Given the description of an element on the screen output the (x, y) to click on. 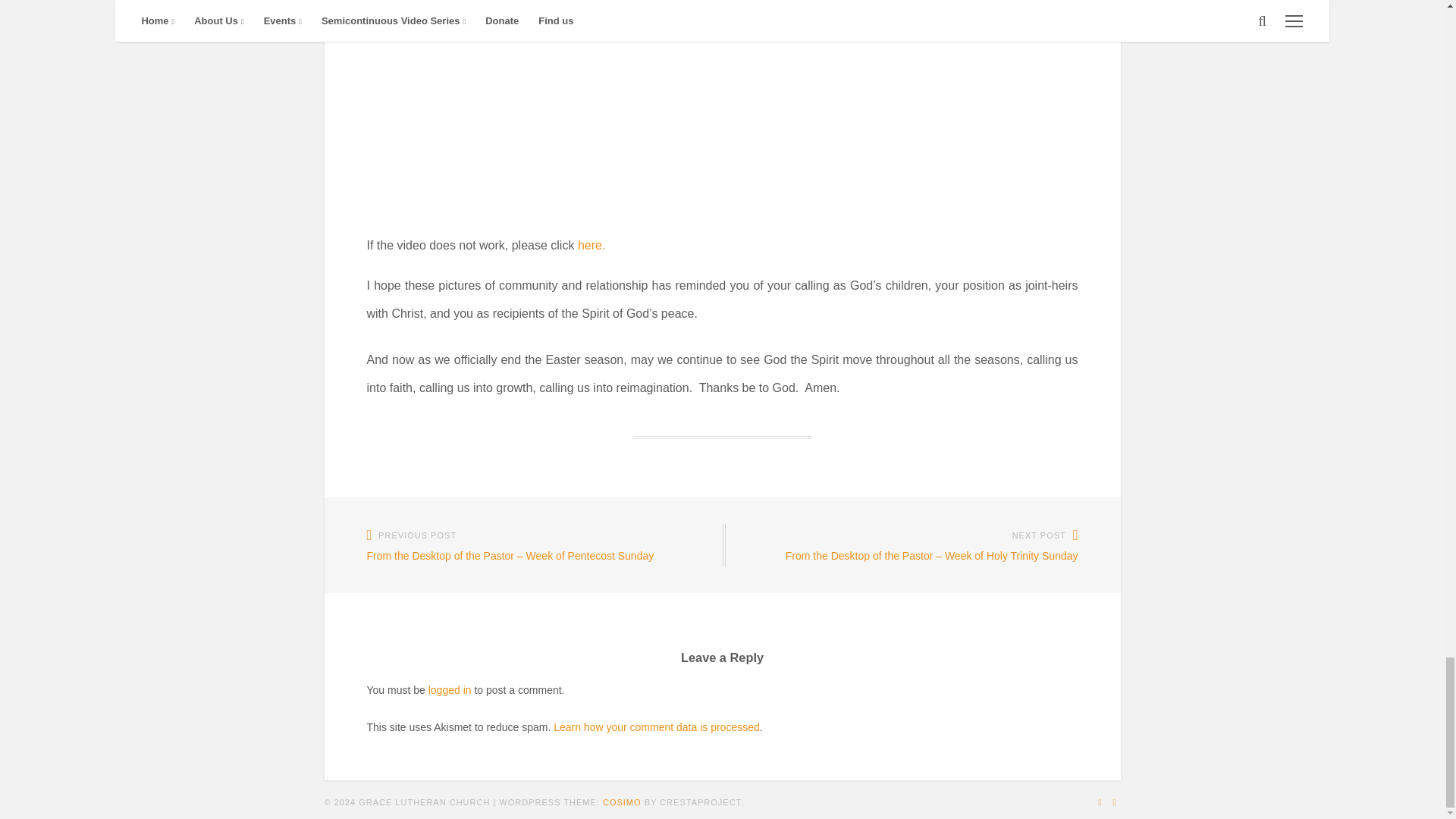
Cosimo Theme (622, 801)
logged in (449, 689)
Twitter (1099, 801)
YouTube (1113, 801)
here. (591, 245)
Learn how your comment data is processed (656, 727)
